Given the description of an element on the screen output the (x, y) to click on. 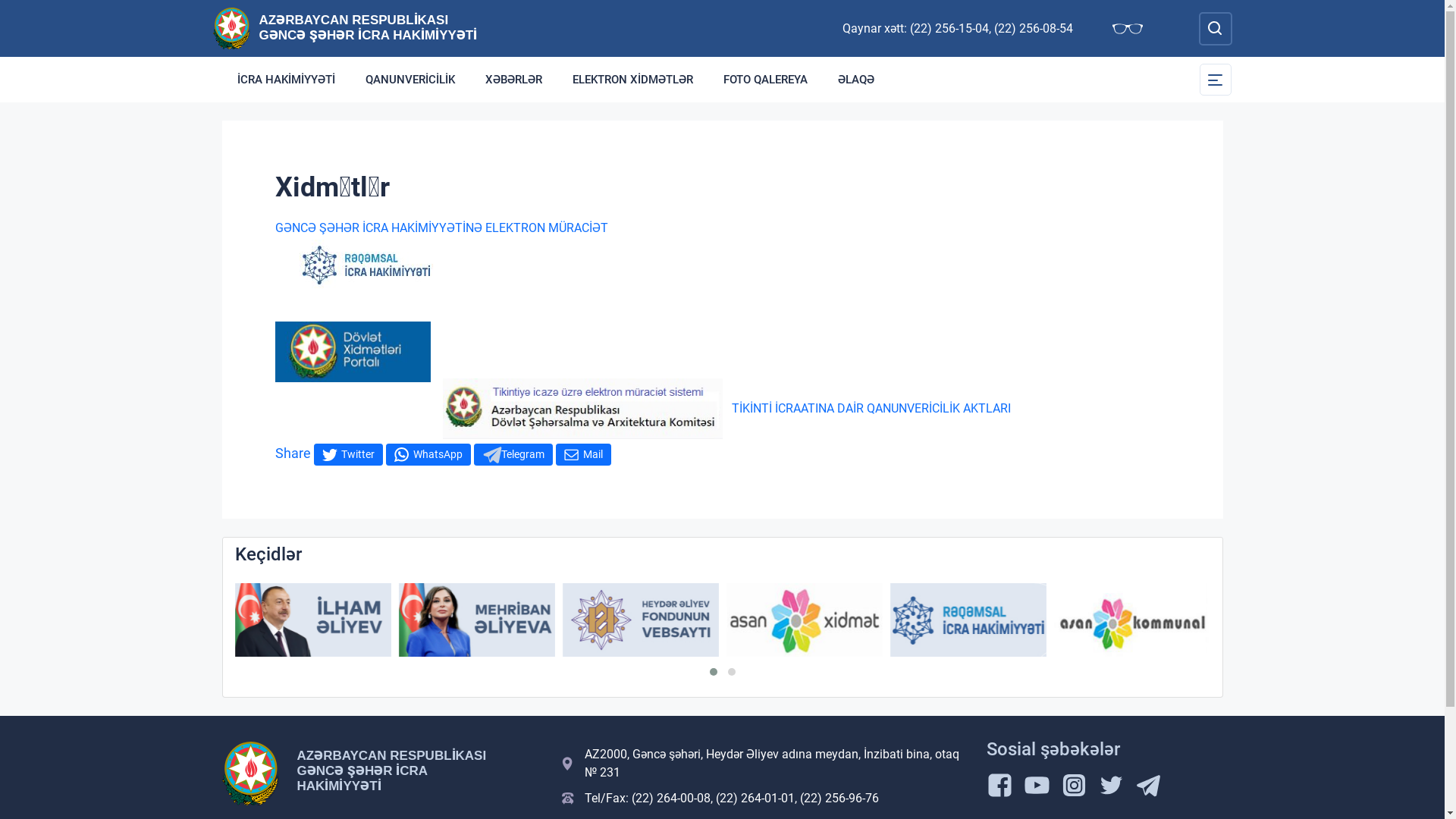
Telegram Element type: text (512, 454)
FOTO QALEREYA Element type: text (765, 79)
WhatsApp Element type: text (427, 454)
Twitter Element type: text (347, 454)
Asan komunal Element type: hover (1132, 619)
QANUNVERICILIK Element type: text (410, 79)
Share Element type: text (292, 453)
Mail Element type: text (582, 454)
